Given the description of an element on the screen output the (x, y) to click on. 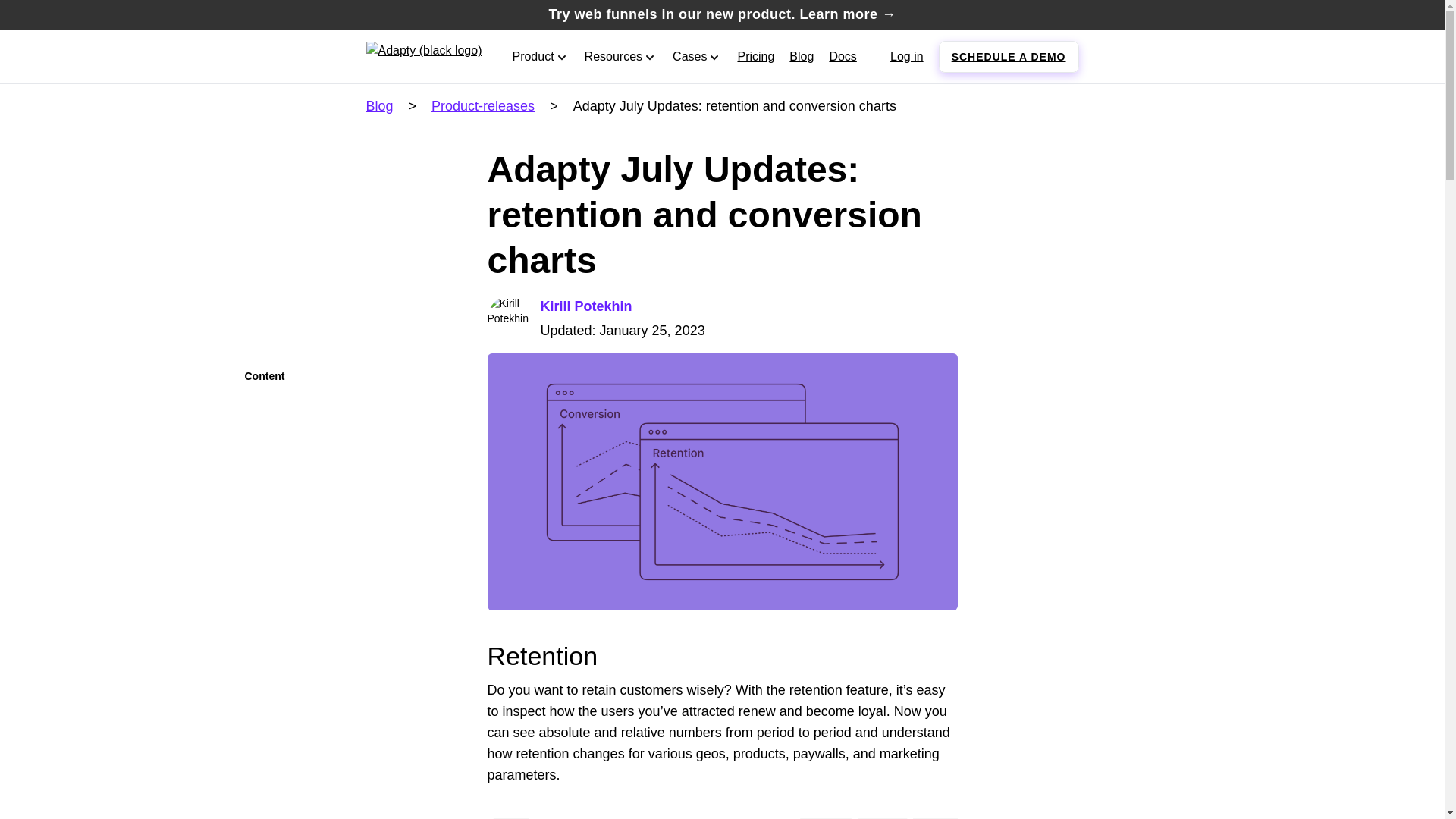
Posts by Kirill Potekhin (585, 305)
Adapty July Updates: retention and conversion charts 1 (721, 481)
